Given the description of an element on the screen output the (x, y) to click on. 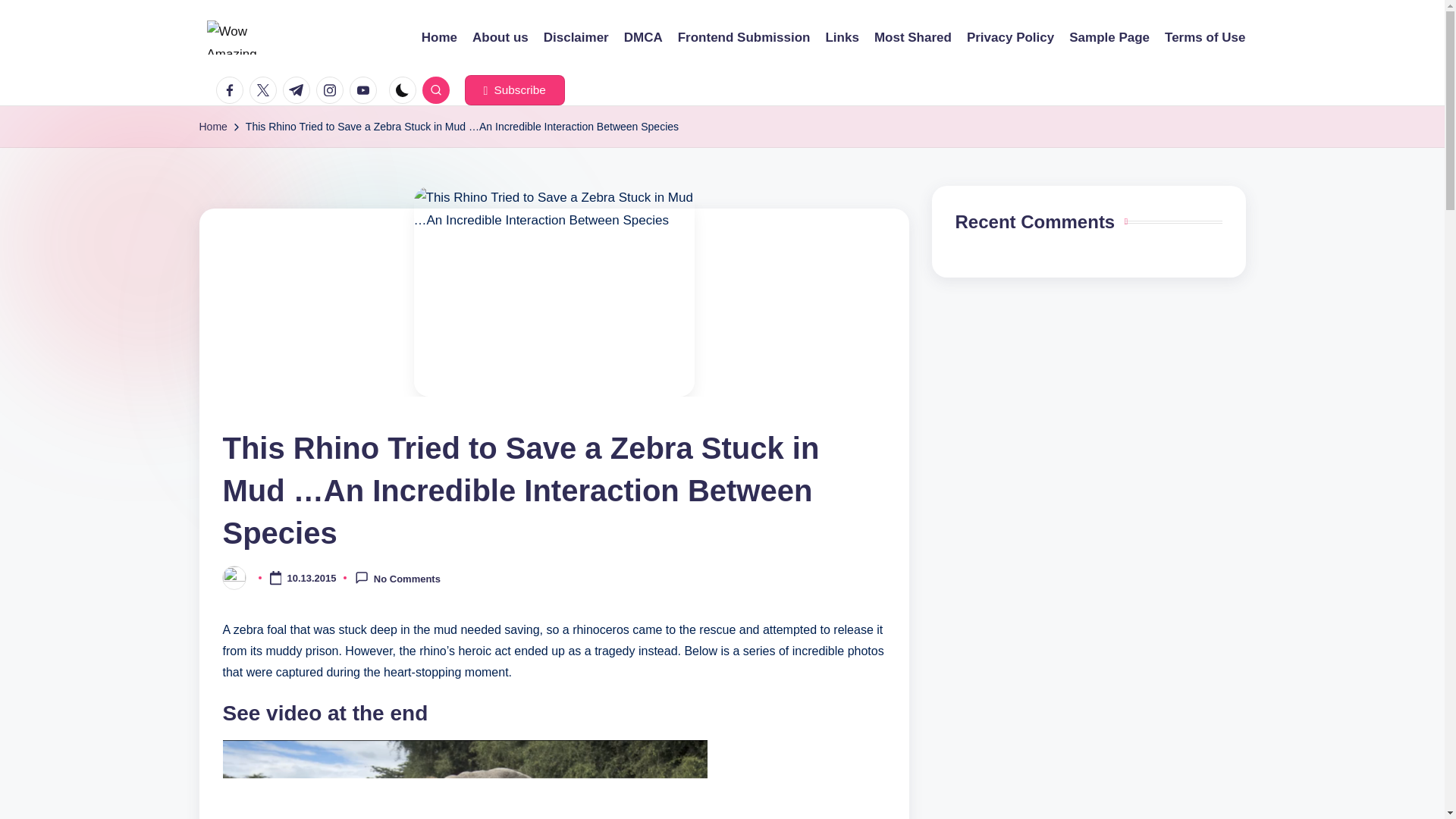
Terms of Use (1204, 37)
instagram.com (332, 90)
Home (439, 37)
Sample Page (1109, 37)
DMCA (643, 37)
About us (499, 37)
Most Shared (913, 37)
facebook.com (231, 90)
No Comments (398, 577)
Privacy Policy (1010, 37)
Frontend Submission (744, 37)
Home (212, 126)
t.me (298, 90)
twitter.com (265, 90)
Disclaimer (575, 37)
